Given the description of an element on the screen output the (x, y) to click on. 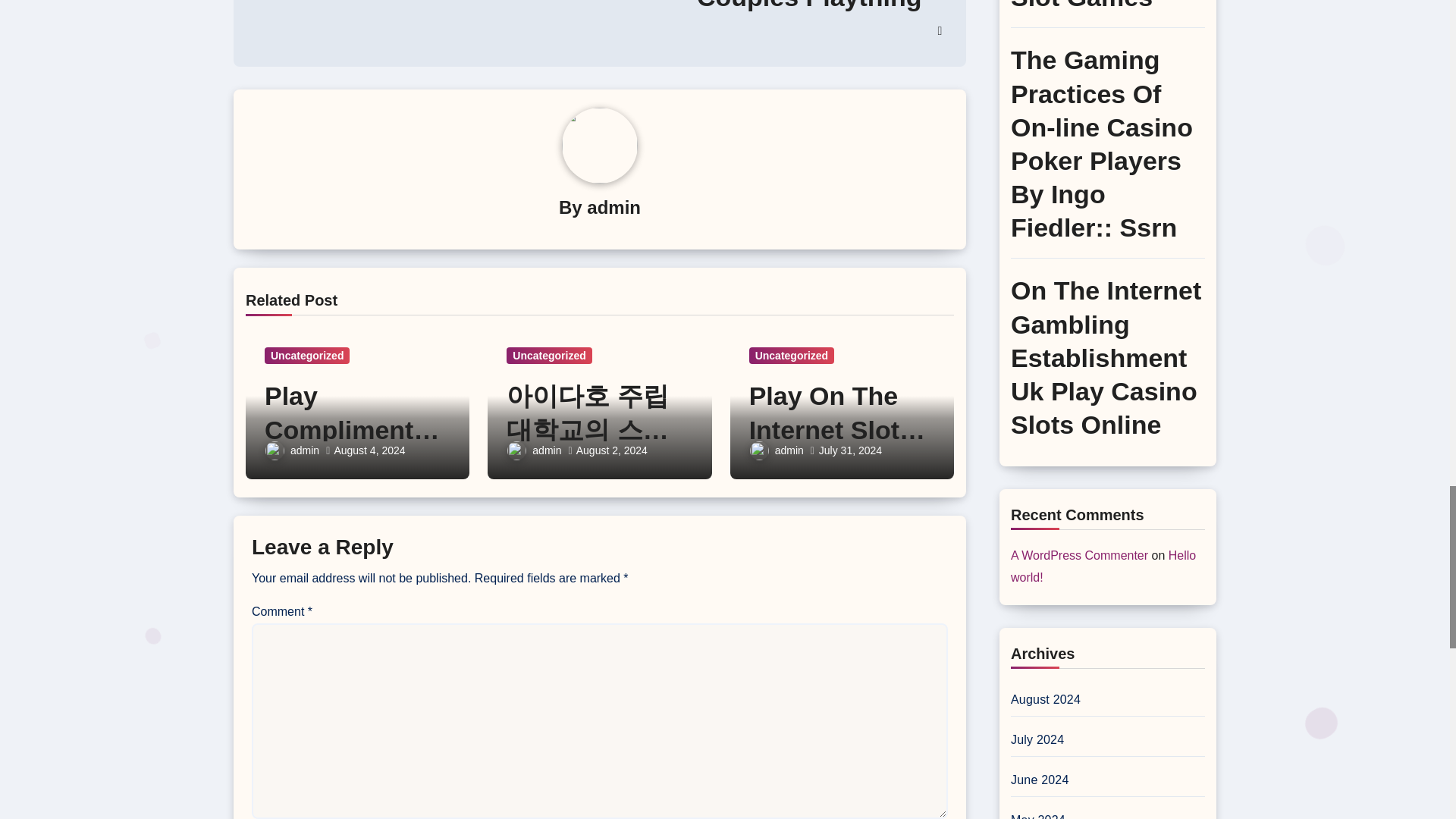
August 2, 2024 (611, 450)
August 4, 2024 (368, 450)
admin (533, 450)
admin (613, 207)
admin (291, 450)
Uncategorized (306, 355)
Uncategorized (548, 355)
